Given the description of an element on the screen output the (x, y) to click on. 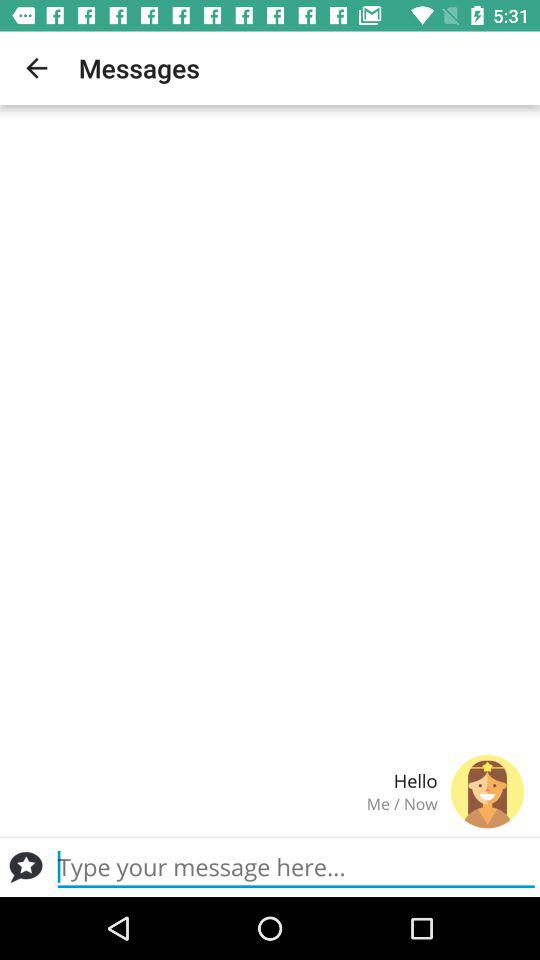
message button or conversation icon (26, 867)
